Given the description of an element on the screen output the (x, y) to click on. 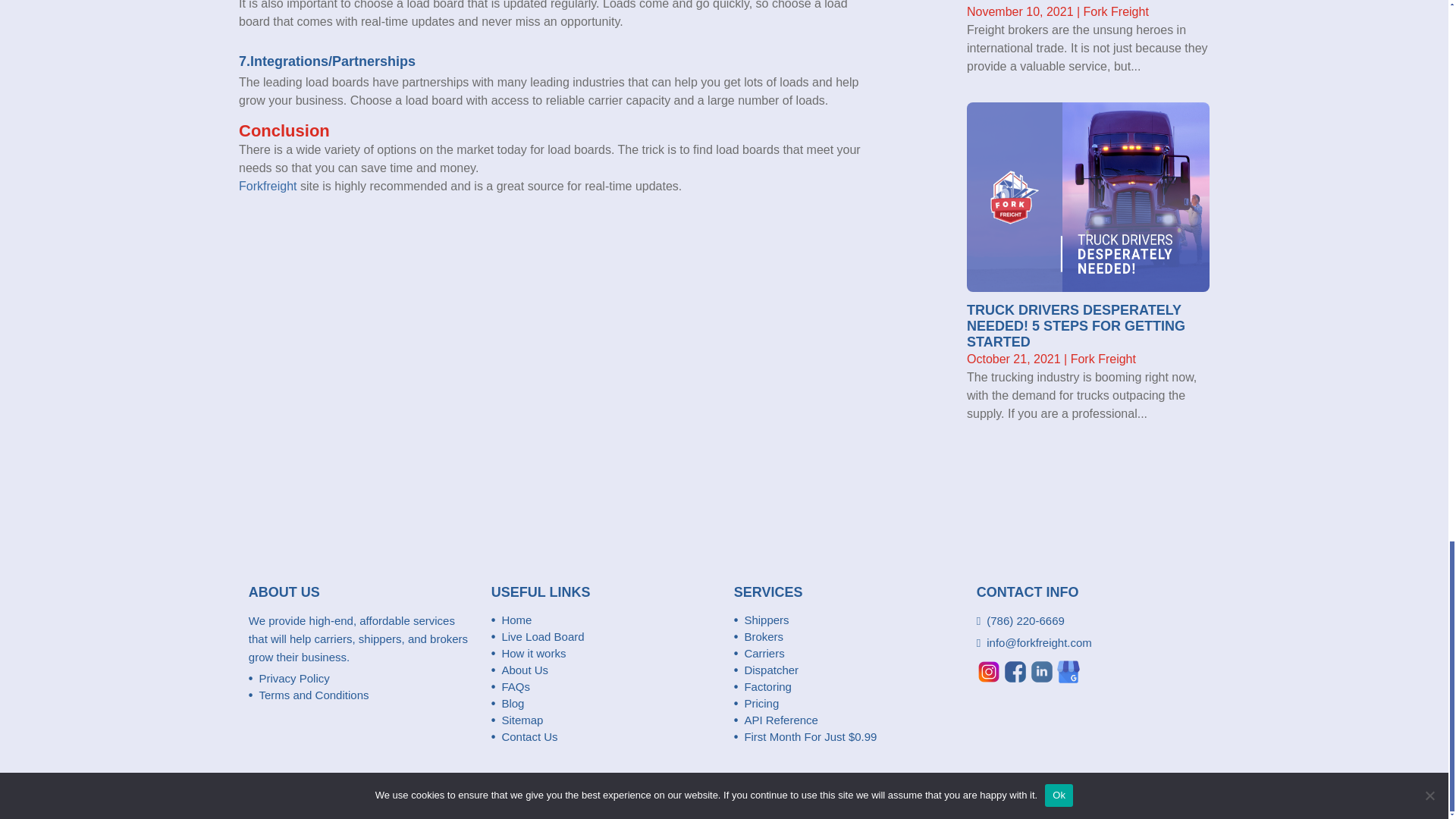
FAQs (514, 686)
How it works (533, 653)
Blog (512, 703)
Live Load Board (541, 635)
Home (515, 619)
Forkfreight (267, 185)
Shippers (766, 619)
Carriers (764, 653)
Contact Us (528, 736)
Google Business (1068, 671)
Dispatcher (770, 669)
Privacy Policy (294, 677)
 Facebook (1015, 671)
Sitemap (521, 719)
 Instagram (988, 671)
